Given the description of an element on the screen output the (x, y) to click on. 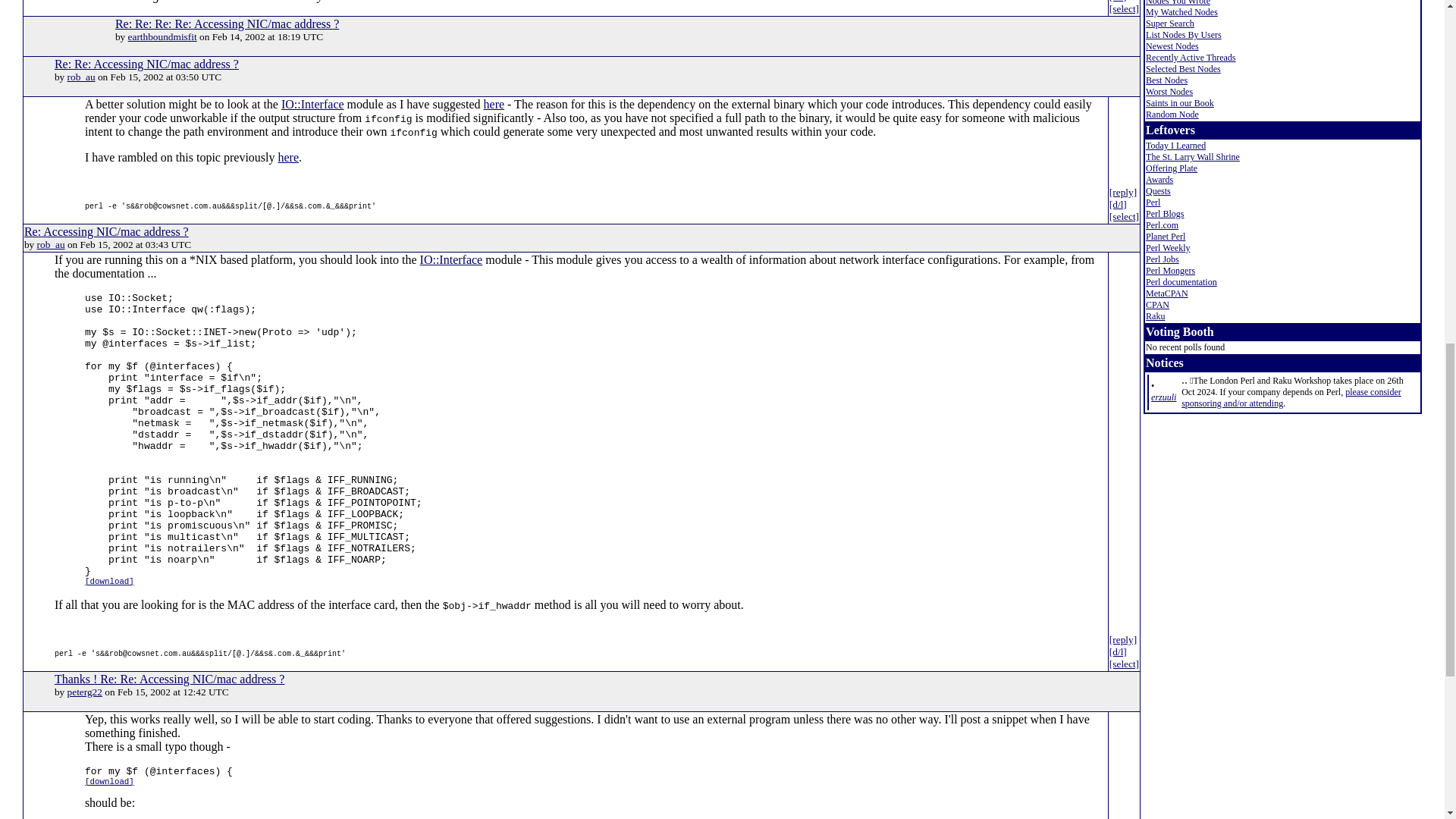
2024-05-30 14:23:36 (1163, 397)
